Given the description of an element on the screen output the (x, y) to click on. 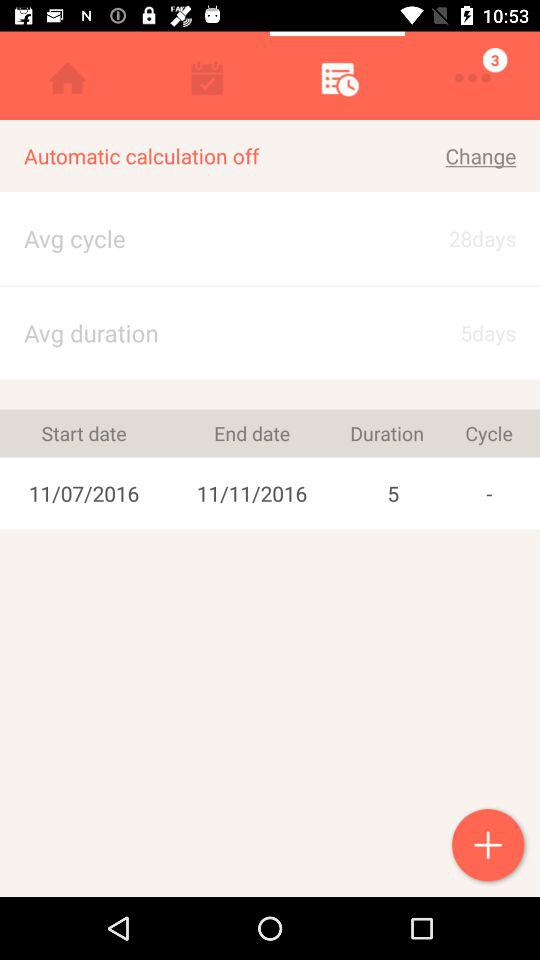
jump to the start date (84, 433)
